Given the description of an element on the screen output the (x, y) to click on. 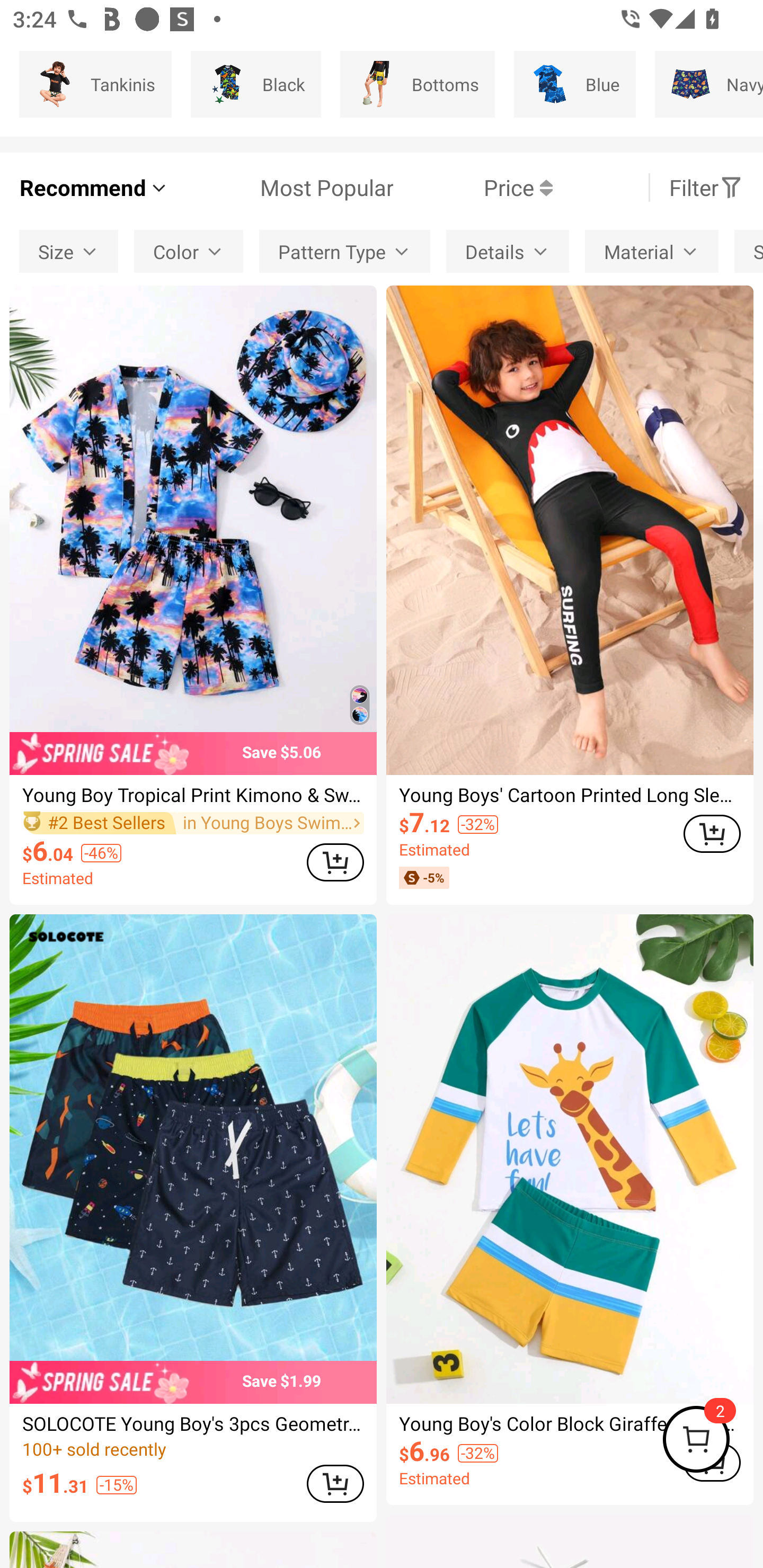
Tankinis (95, 83)
Black (255, 83)
Bottoms (417, 83)
Blue (574, 83)
Navy Blue (708, 83)
Recommend (94, 187)
Most Popular (280, 187)
Price (472, 187)
Filter (705, 187)
Size (68, 251)
Color (188, 251)
Pattern Type (344, 251)
Details (507, 251)
Material (651, 251)
#2 Best Sellers in Young Boys Swimwear (192, 822)
ADD TO CART (711, 833)
ADD TO CART (334, 862)
ADD TO CART (334, 1483)
